Given the description of an element on the screen output the (x, y) to click on. 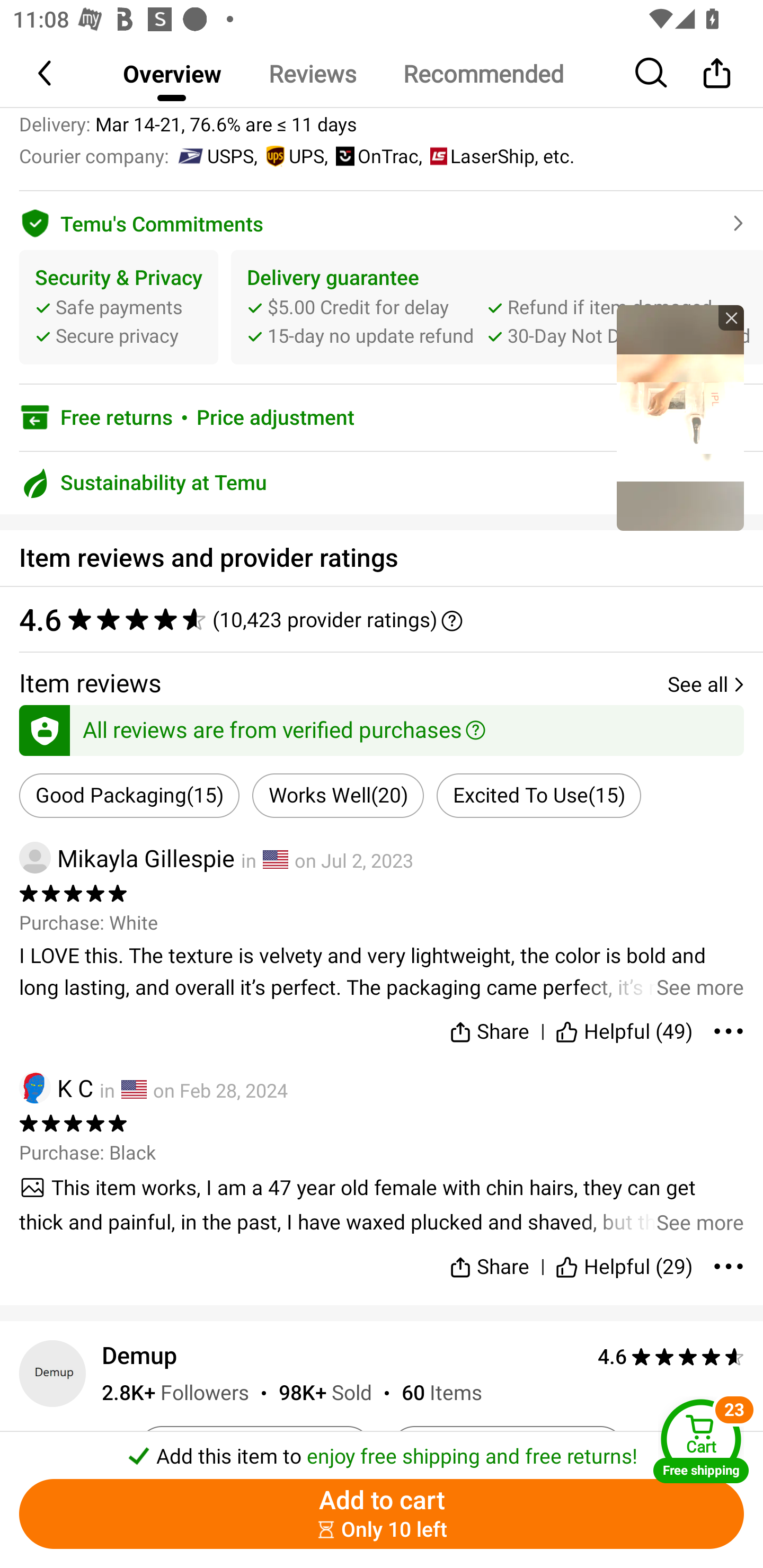
Overview (171, 72)
Reviews (311, 72)
Recommended (482, 72)
Back (46, 72)
Share (716, 72)
Temu's Commitments (381, 220)
Security & Privacy Safe payments Secure privacy (118, 306)
tronplayer_view (680, 417)
Free returns￼Price adjustment (381, 417)
Sustainability at Temu 5M+ trees (381, 482)
4.6 ‪(10,423 provider ratings) (381, 619)
All reviews are from verified purchases  (381, 727)
Good Packaging(15) (129, 795)
Works Well(20) (338, 795)
Excited To Use(15) (538, 795)
Mikayla Gillespie (127, 857)
See more (381, 971)
  Share (489, 1027)
  Helpful (49) (624, 1027)
K C (56, 1086)
See more (381, 1204)
  Share (489, 1258)
  Helpful (29) (624, 1258)
Cart Free shipping Cart (701, 1440)
Add to cart ￼￼Only 10 left (381, 1513)
